Given the description of an element on the screen output the (x, y) to click on. 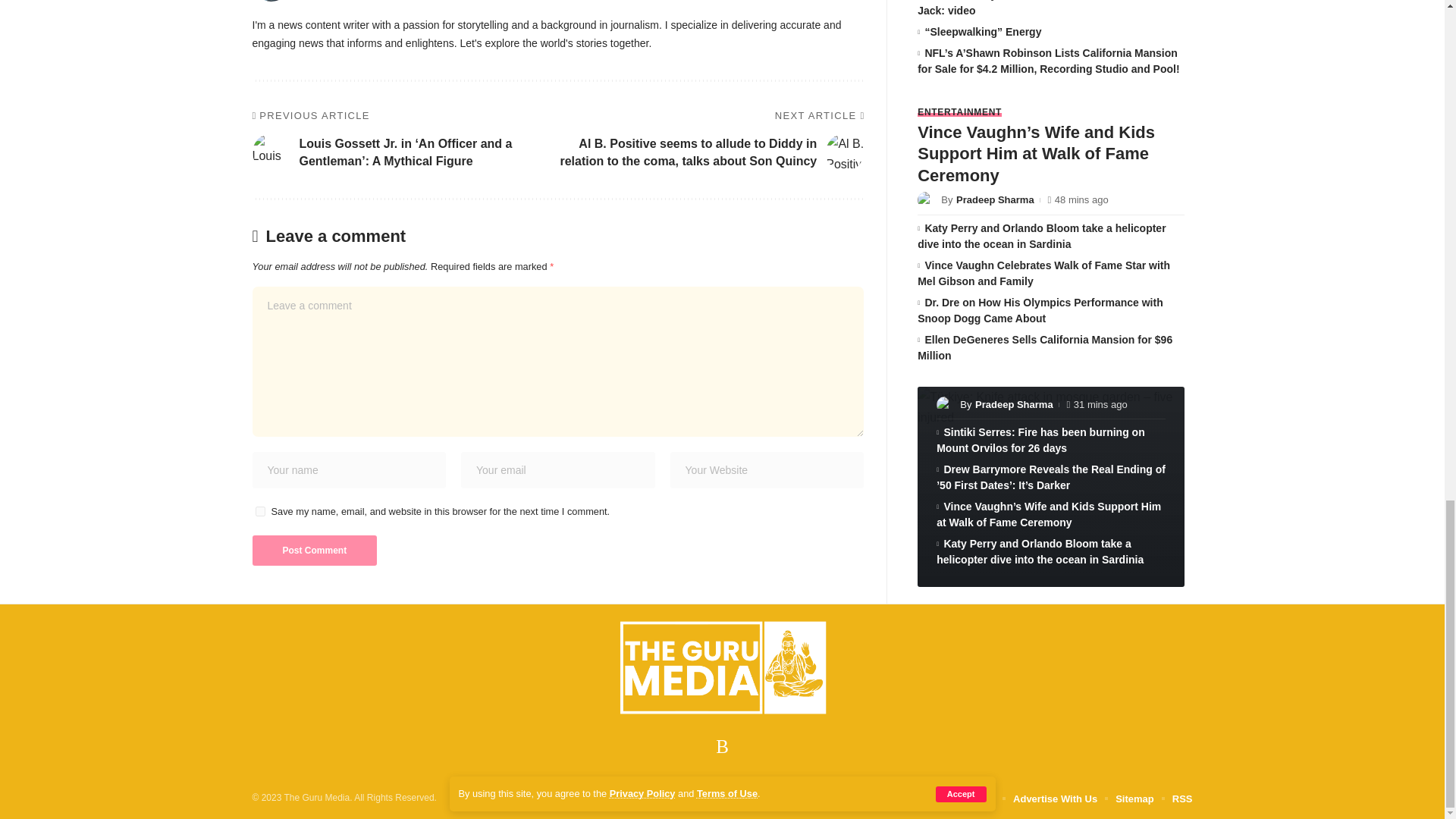
yes (259, 511)
Post Comment (314, 550)
